Given the description of an element on the screen output the (x, y) to click on. 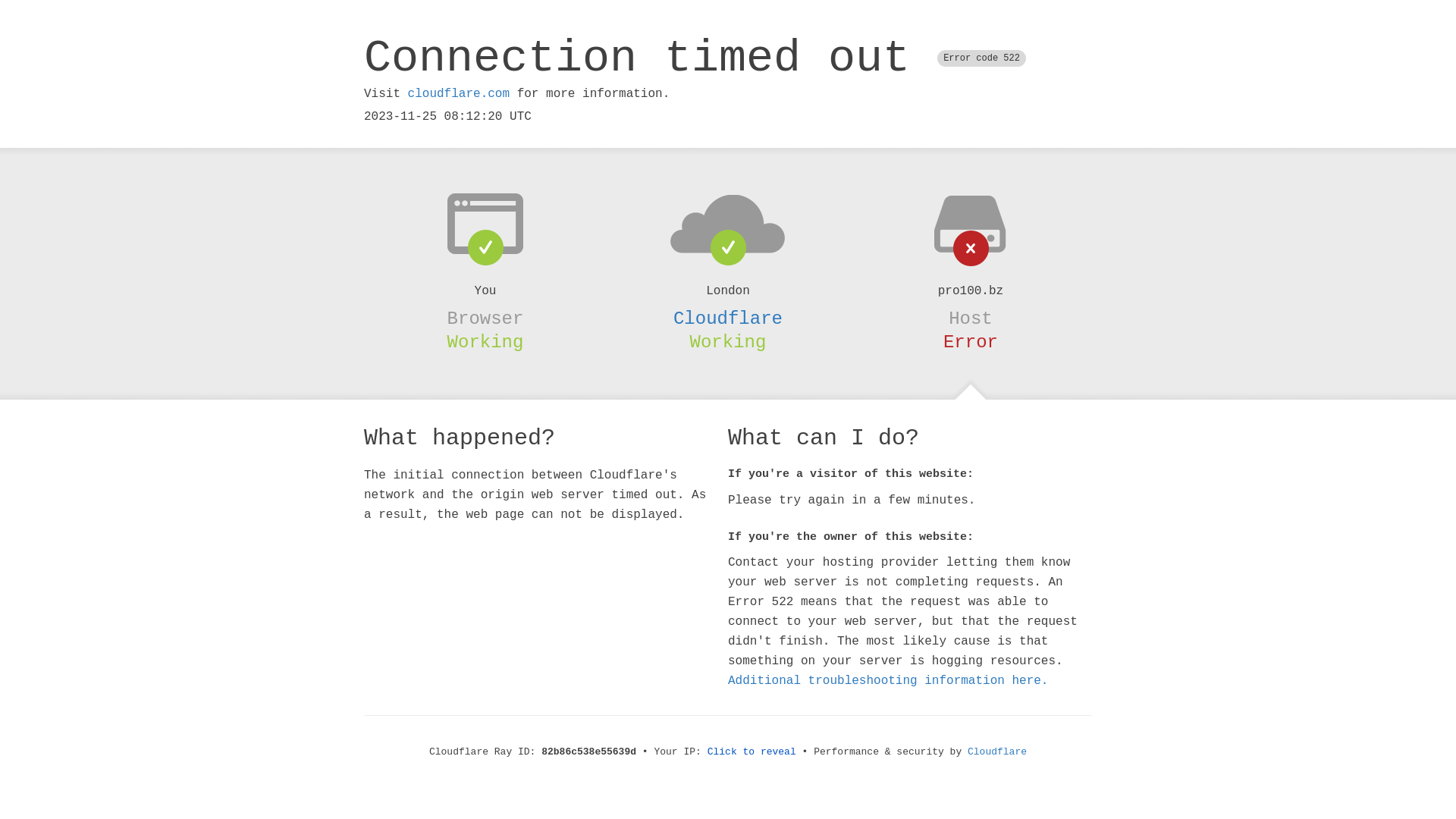
cloudflare.com Element type: text (458, 93)
Click to reveal Element type: text (751, 751)
Additional troubleshooting information here. Element type: text (888, 680)
Cloudflare Element type: text (996, 751)
Cloudflare Element type: text (727, 318)
